Given the description of an element on the screen output the (x, y) to click on. 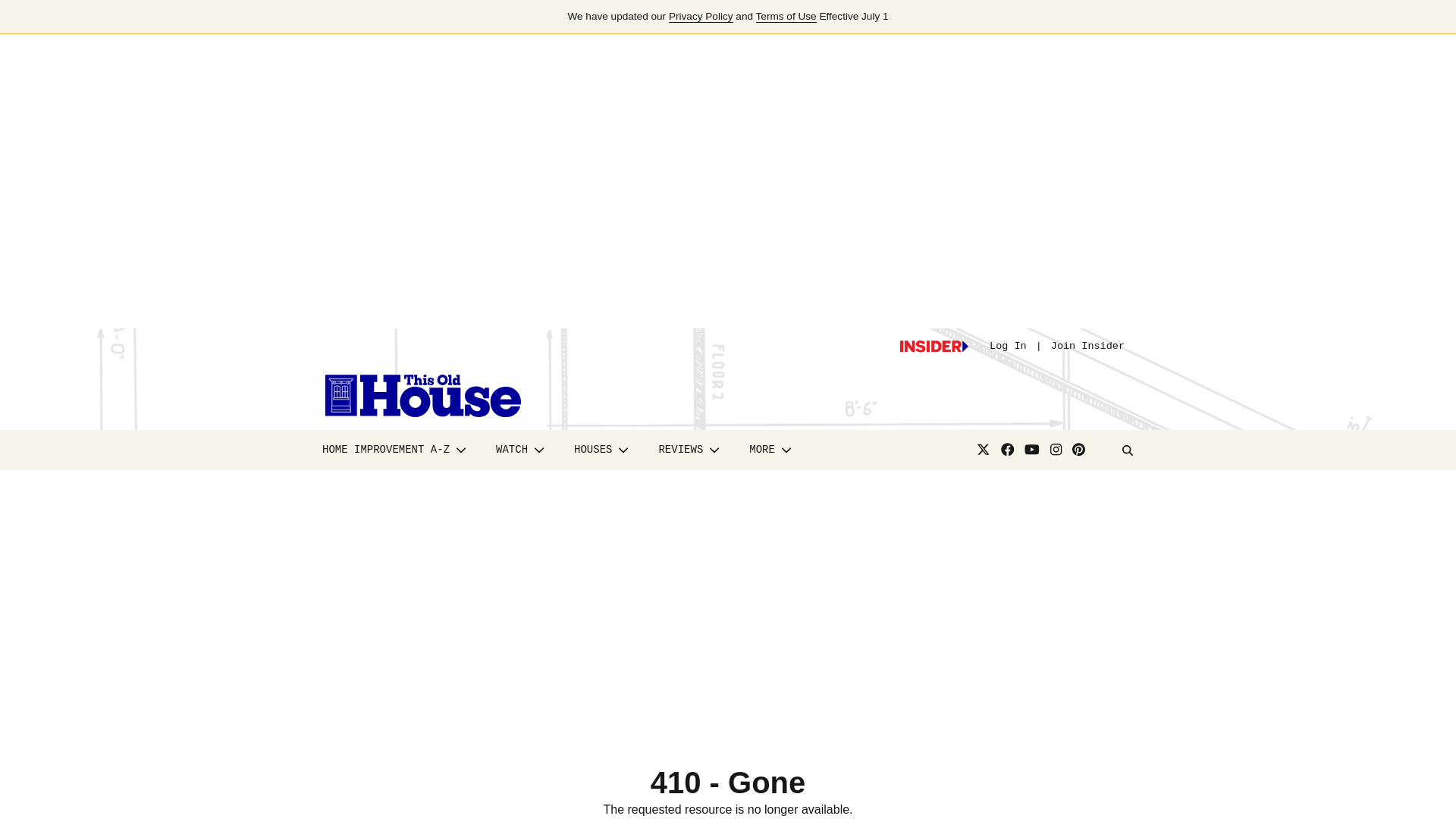
Terms of Use (785, 16)
Log in or sign up (933, 346)
Log In (1008, 346)
Join Insider (1087, 346)
Privacy Policy (700, 16)
